Given the description of an element on the screen output the (x, y) to click on. 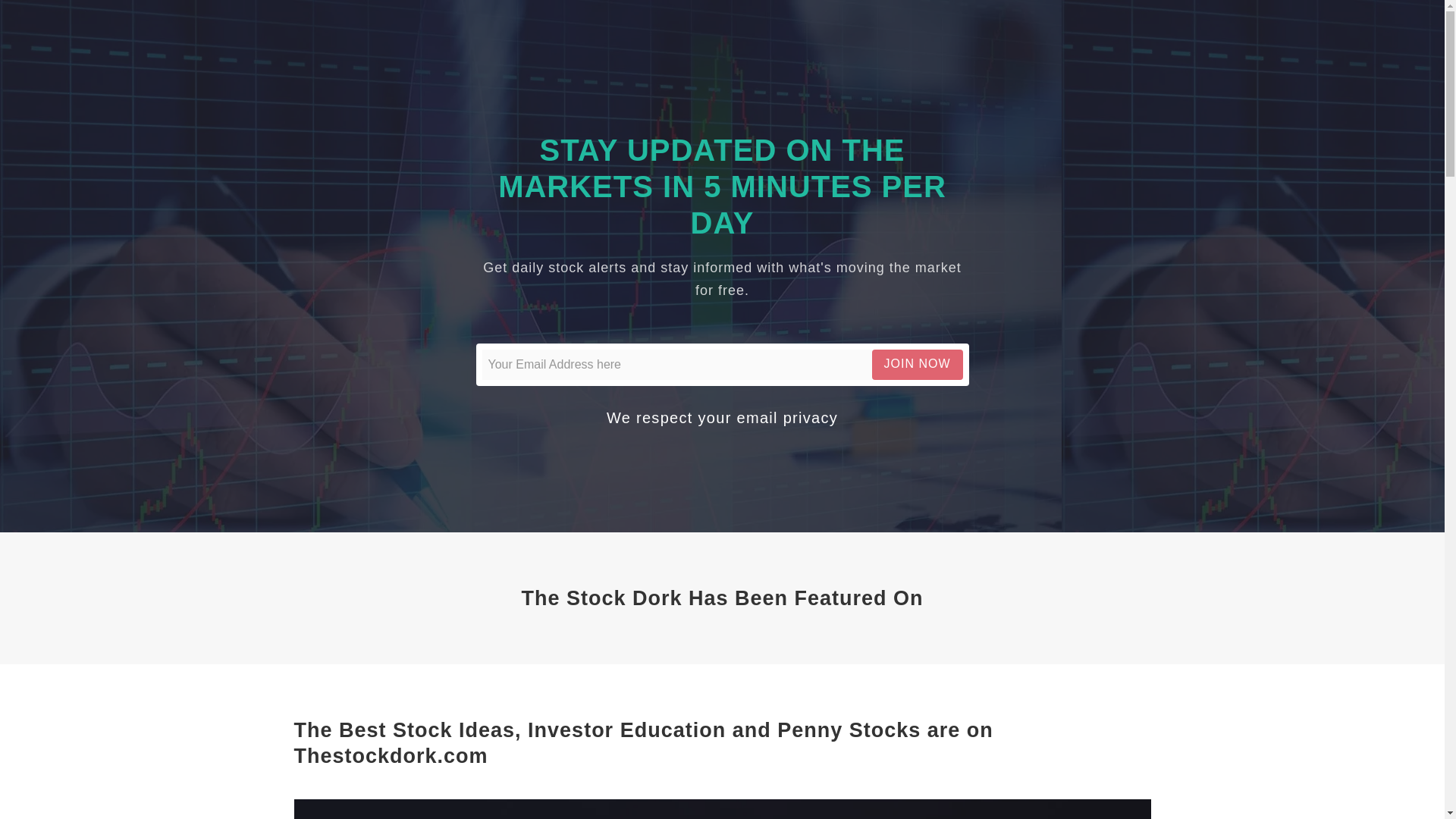
email privacy (787, 417)
Join Now (917, 363)
Privacy Policy (787, 417)
Join Now (917, 363)
